Given the description of an element on the screen output the (x, y) to click on. 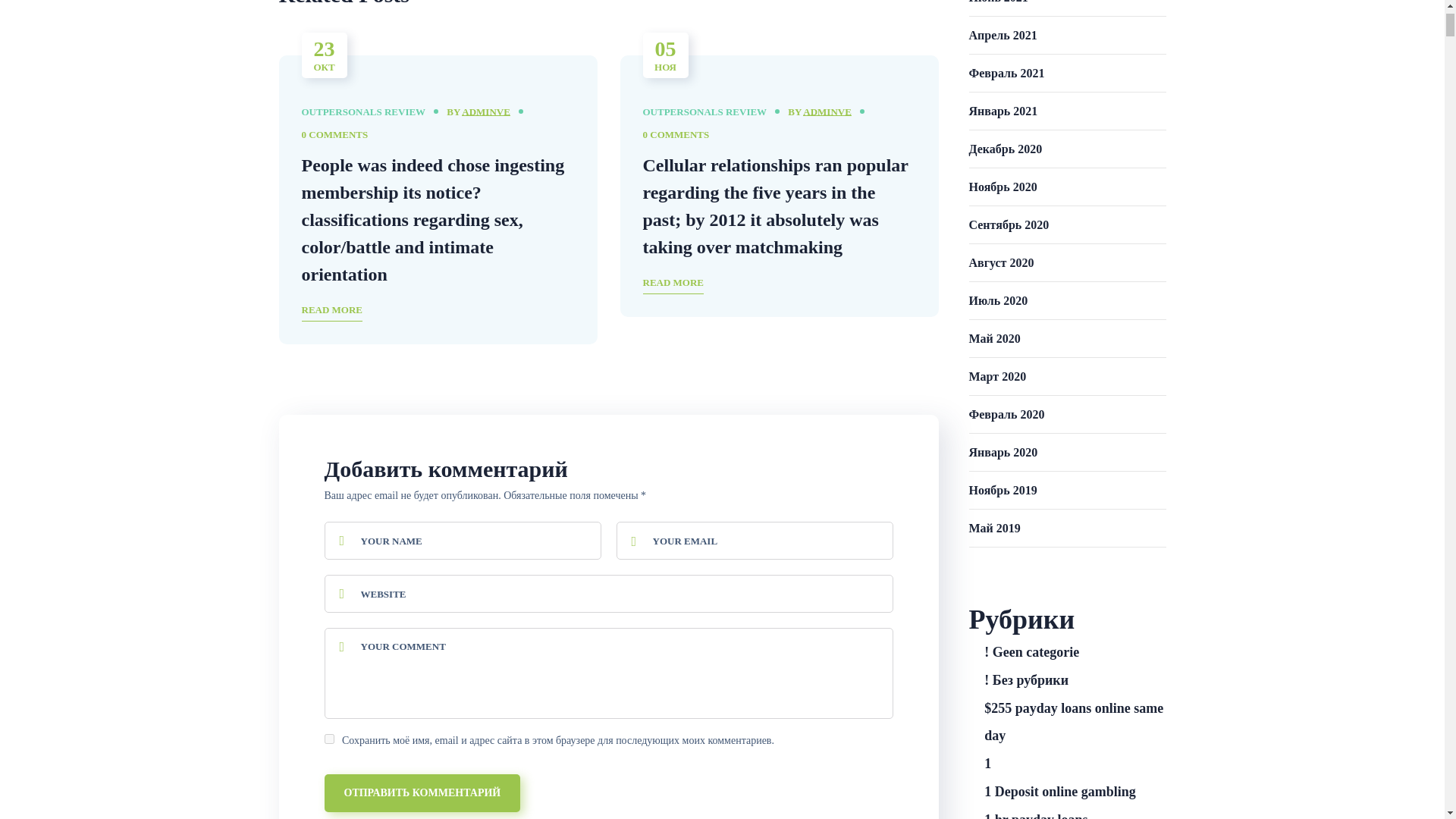
Leave a reply (334, 134)
OUTPERSONALS REVIEW (705, 111)
WEBSITE (608, 593)
OUTPERSONALS REVIEW (363, 111)
READ MORE (673, 283)
ADMINVE (827, 111)
0 COMMENTS (334, 134)
ADMINVE (486, 111)
yes (329, 738)
